Given the description of an element on the screen output the (x, y) to click on. 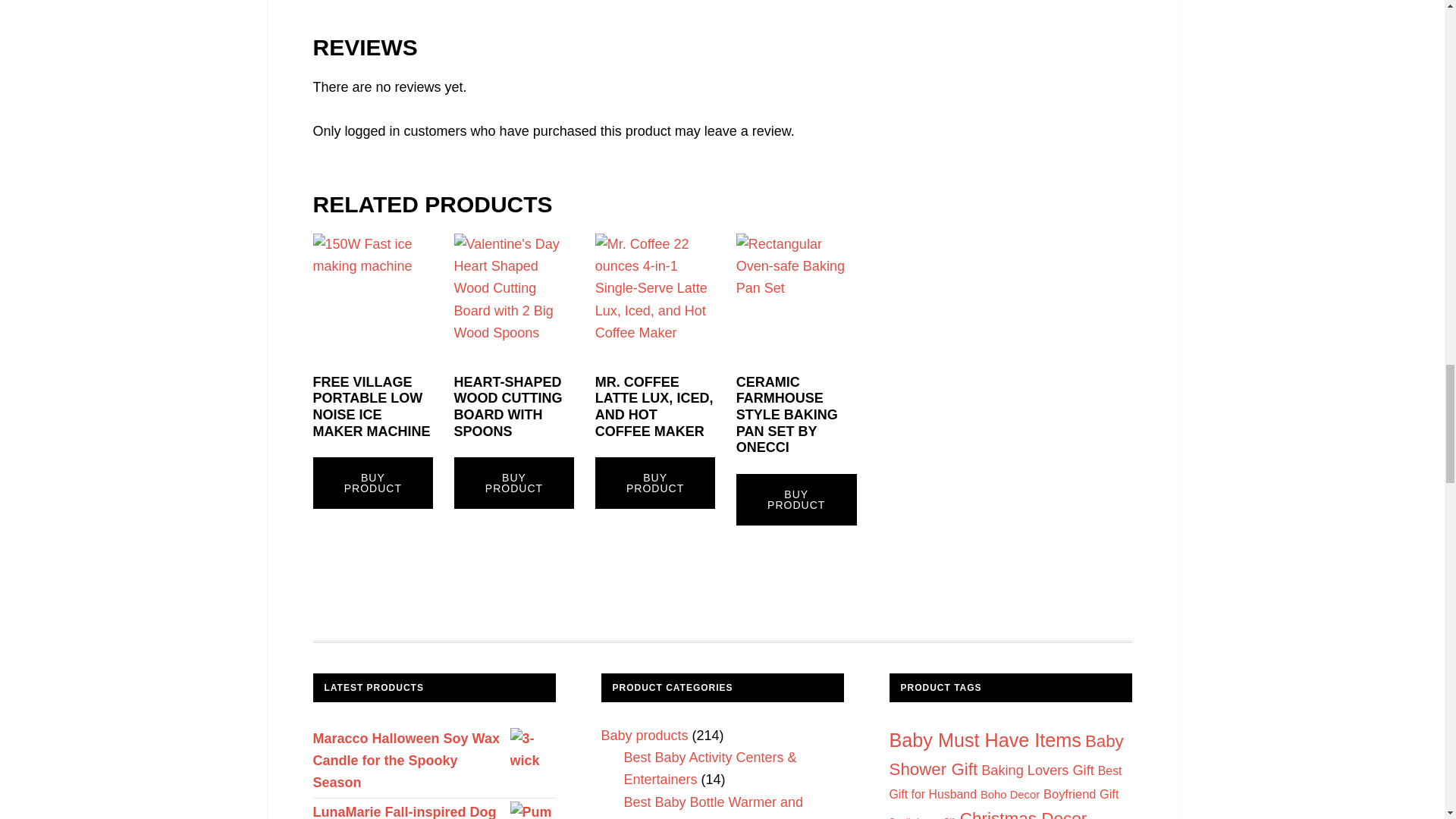
BUY PRODUCT (796, 499)
LunaMarie Fall-inspired Dog Bandana (433, 810)
BUY PRODUCT (372, 482)
BUY PRODUCT (655, 482)
Maracco Halloween Soy Wax Candle for the Spooky Season (433, 761)
Baby products (643, 735)
BUY PRODUCT (514, 482)
